Given the description of an element on the screen output the (x, y) to click on. 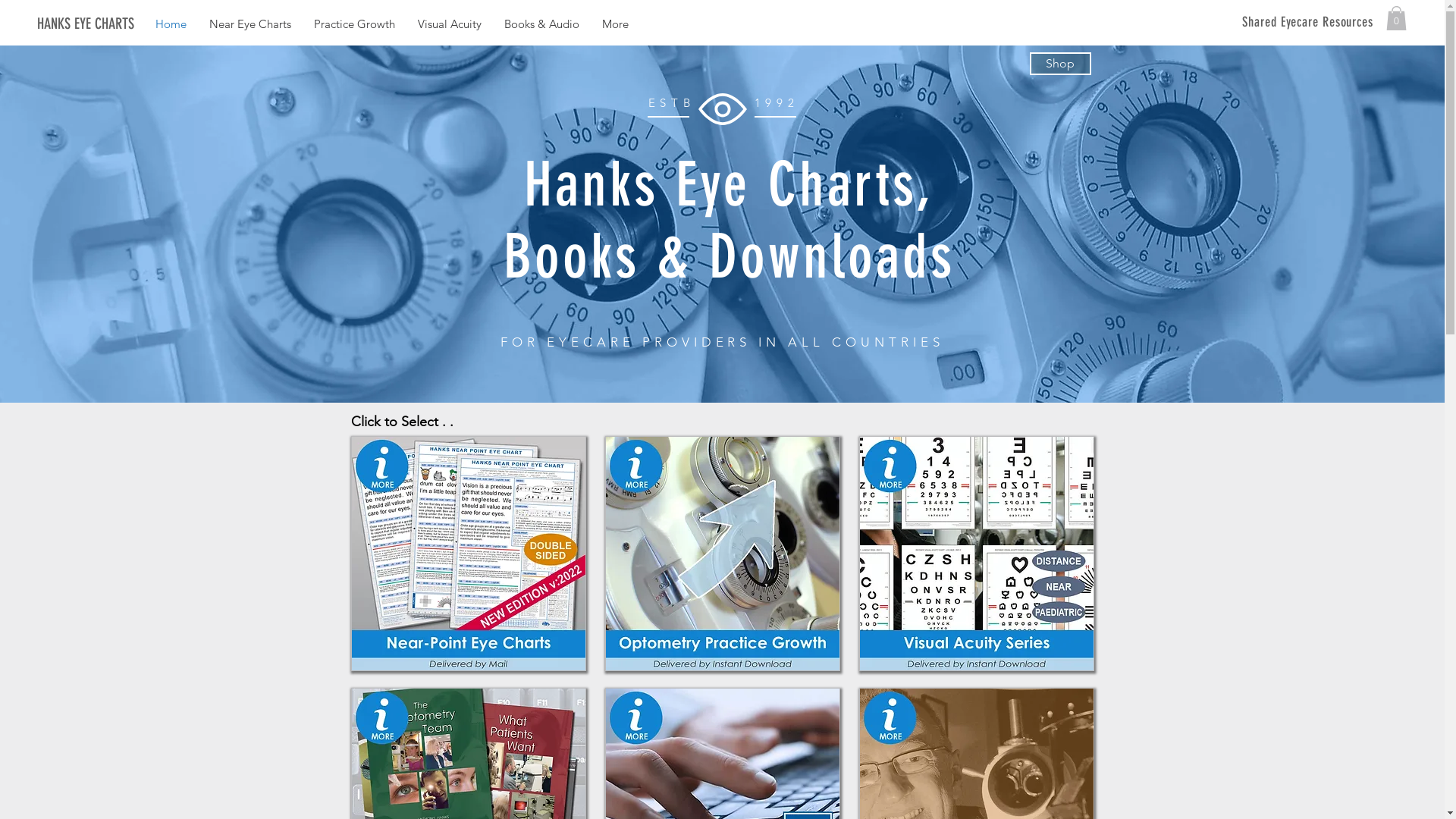
Click for more information Element type: hover (467, 553)
Shop Element type: text (1060, 63)
TWIPLA (Visitor Analytics) Element type: hover (229, 534)
Click for more information Element type: hover (975, 553)
Visual Acuity Element type: text (449, 24)
Home Element type: text (170, 24)
Books & Audio Element type: text (541, 24)
0 Element type: text (1396, 18)
HANKS EYE CHARTS Element type: text (113, 23)
Click for more information Element type: hover (722, 553)
Near Eye Charts Element type: text (249, 24)
Practice Growth Element type: text (354, 24)
